Given the description of an element on the screen output the (x, y) to click on. 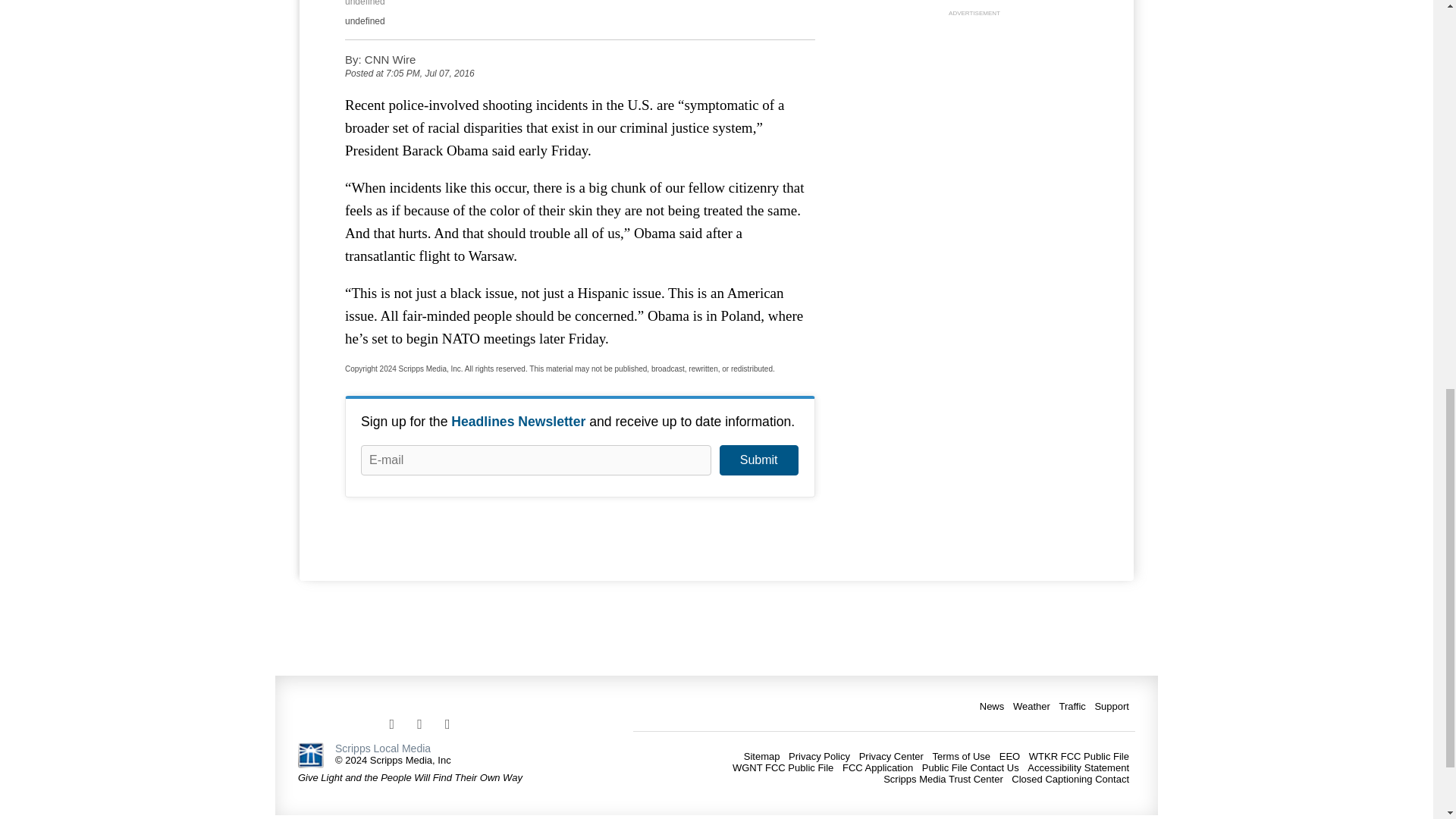
Submit (758, 460)
3rd party ad content (973, 114)
